Given the description of an element on the screen output the (x, y) to click on. 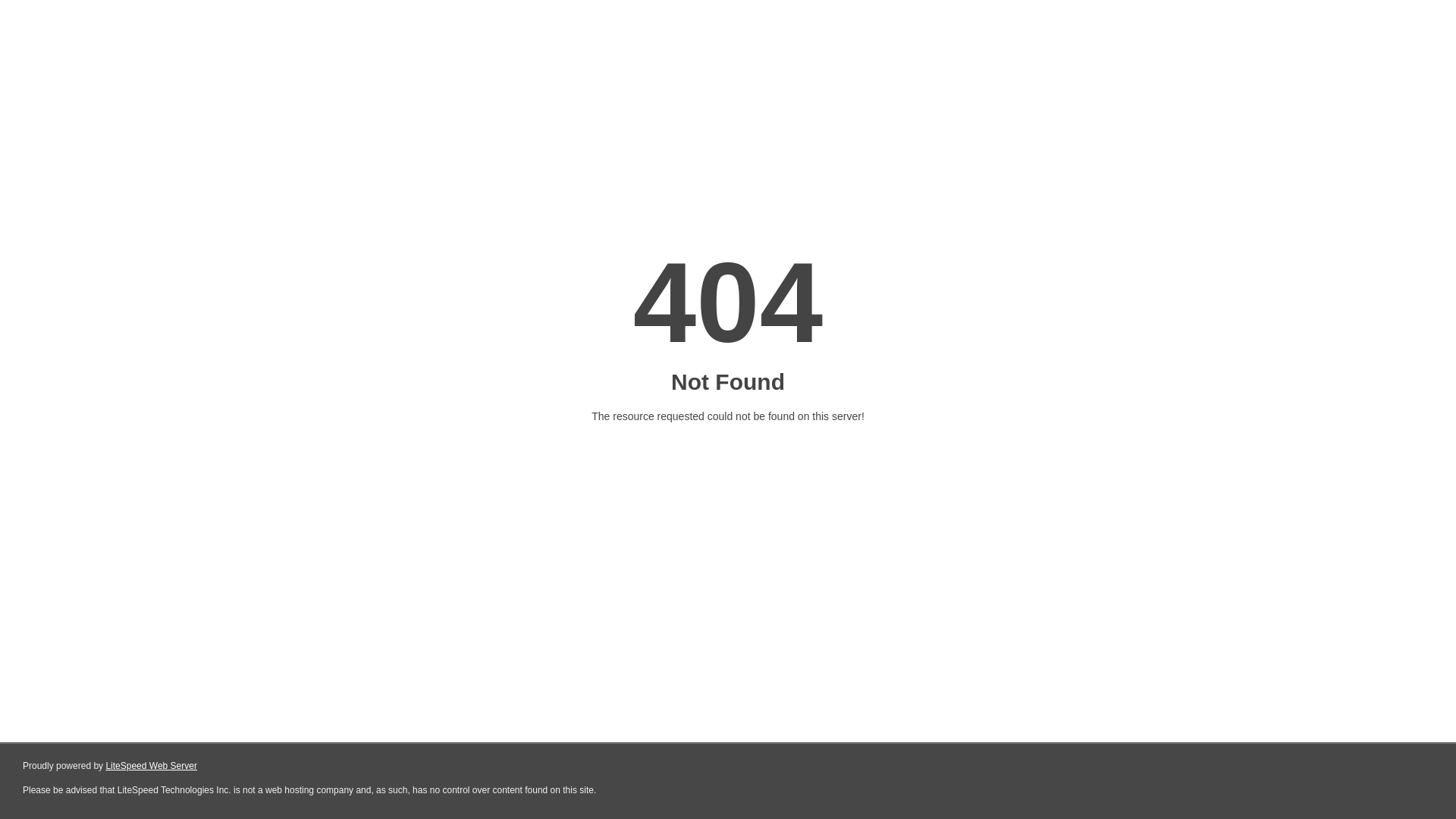
LiteSpeed Web Server Element type: text (151, 765)
